Given the description of an element on the screen output the (x, y) to click on. 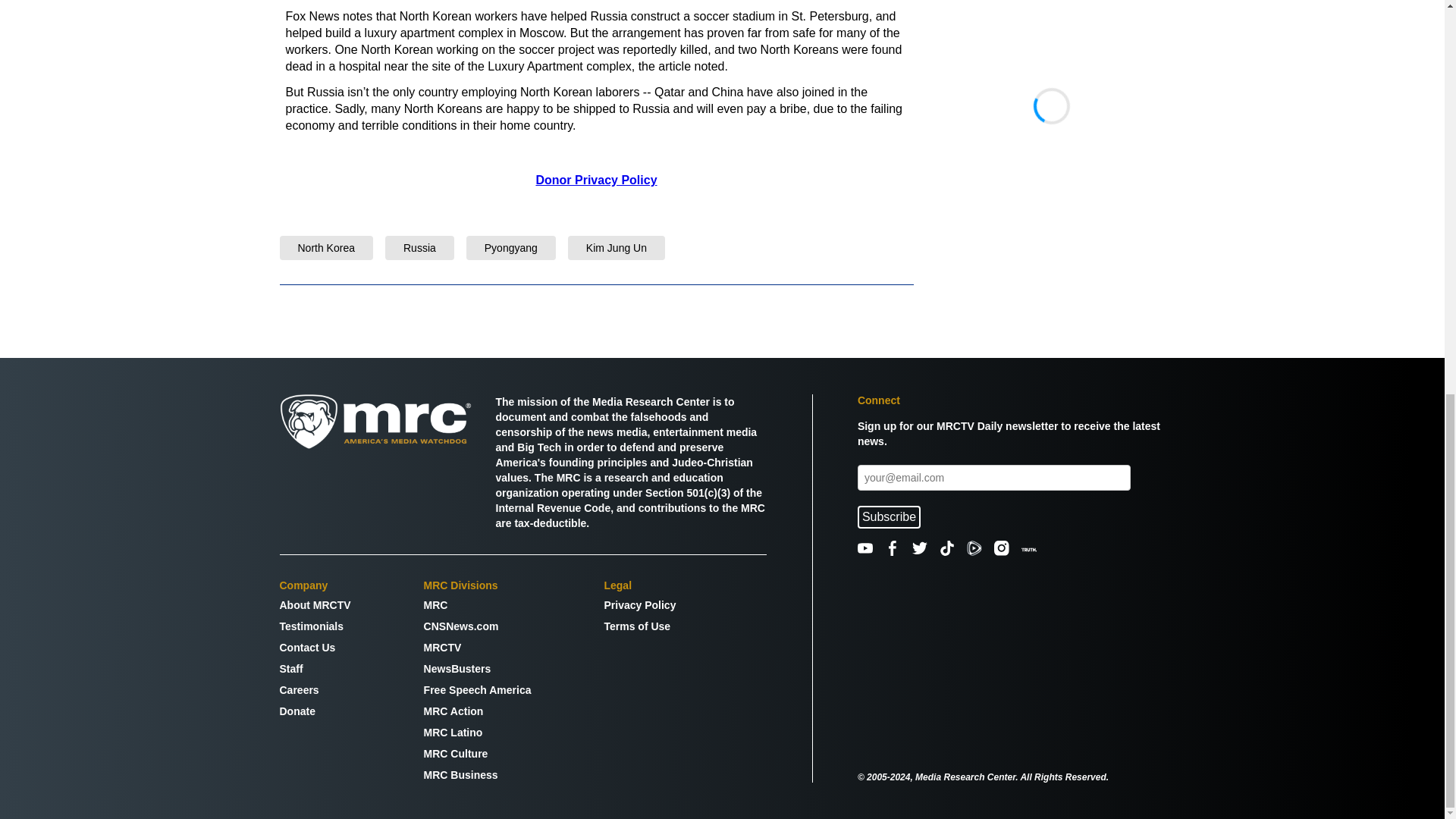
MRC Latino (477, 732)
Staff (314, 668)
Donate (314, 711)
Kim Jung Un (616, 247)
MRC Action (477, 711)
MRCTV (477, 647)
NewsBusters (477, 668)
Russia (419, 247)
CNSNews.com (477, 626)
Contact Us (314, 647)
Careers (314, 689)
MRC (477, 604)
About MRCTV (314, 604)
Testimonials (314, 626)
Pyongyang (510, 247)
